Given the description of an element on the screen output the (x, y) to click on. 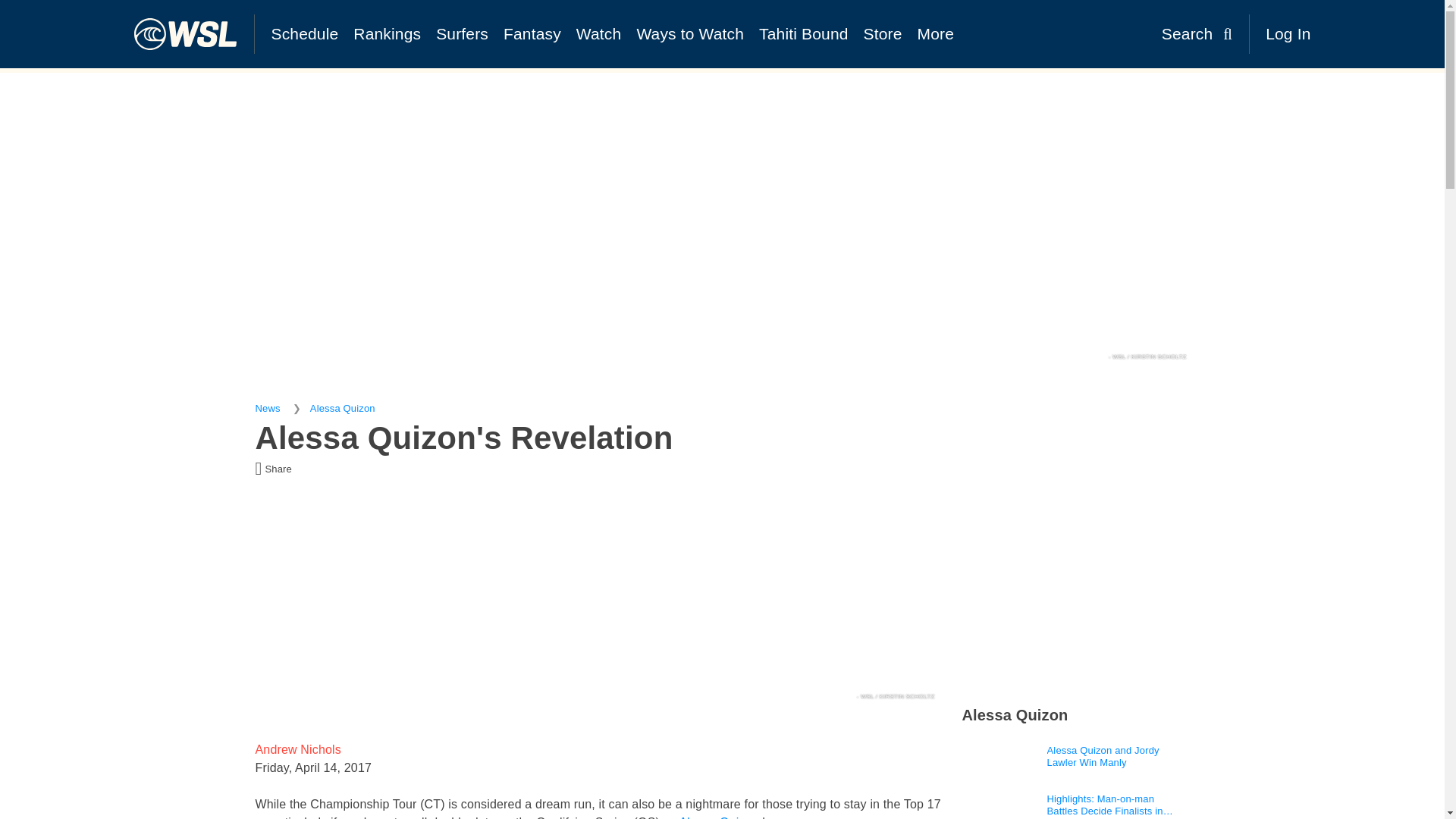
Watch (598, 33)
Tahiti Bound (803, 33)
News (266, 408)
Alessa Quizon (1013, 714)
Alessa Quizon (342, 408)
Surfers (462, 33)
Alessa Quizon (718, 817)
Ways to Watch (689, 33)
Schedule (304, 33)
Fantasy (532, 33)
